Given the description of an element on the screen output the (x, y) to click on. 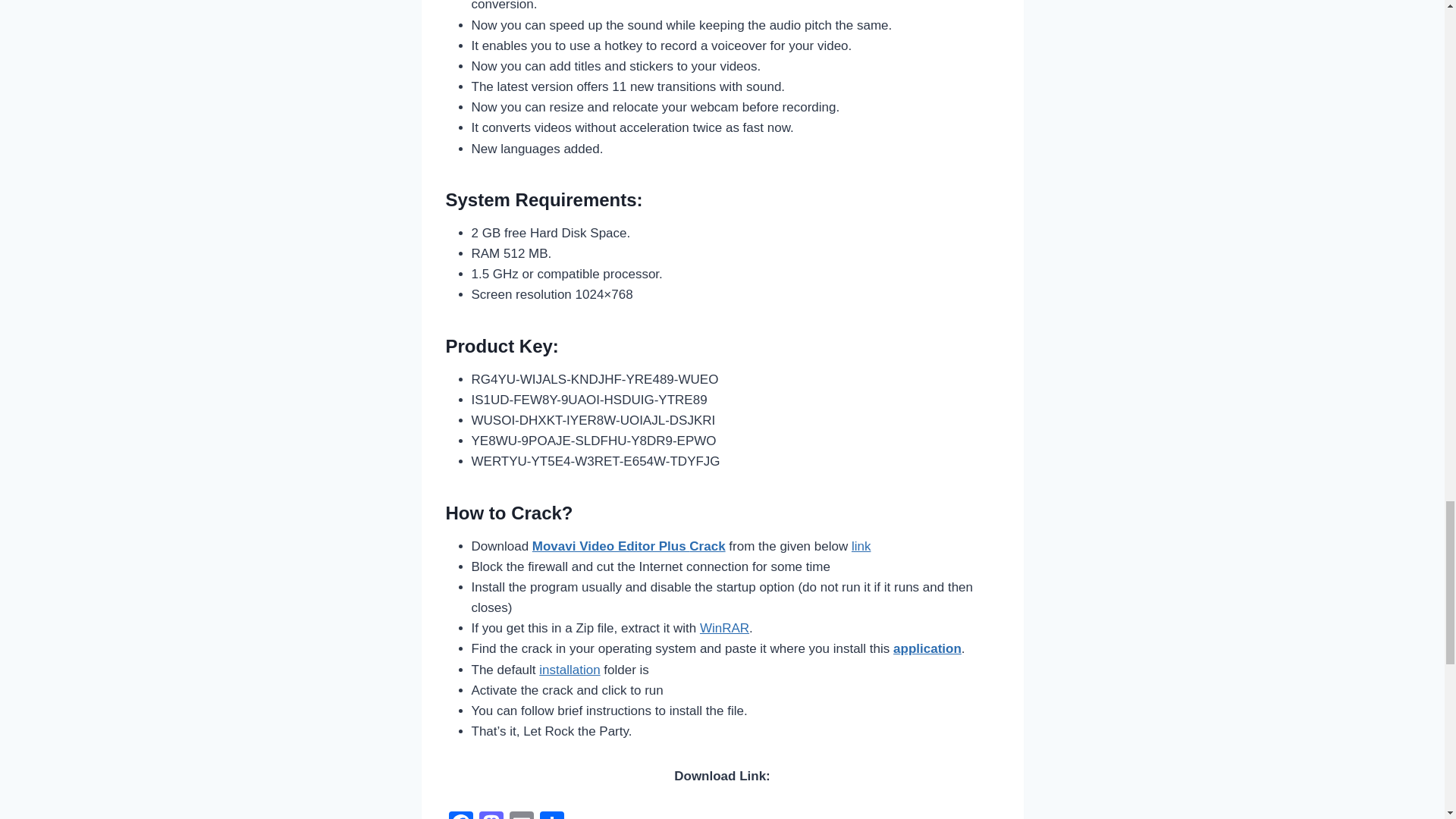
Mastodon (491, 815)
installation (568, 669)
WinRAR (724, 627)
Facebook (460, 815)
Email (521, 815)
Movavi Video Editor Plus Crack (628, 545)
Email (521, 815)
link (860, 545)
application (926, 648)
Mastodon (491, 815)
